Given the description of an element on the screen output the (x, y) to click on. 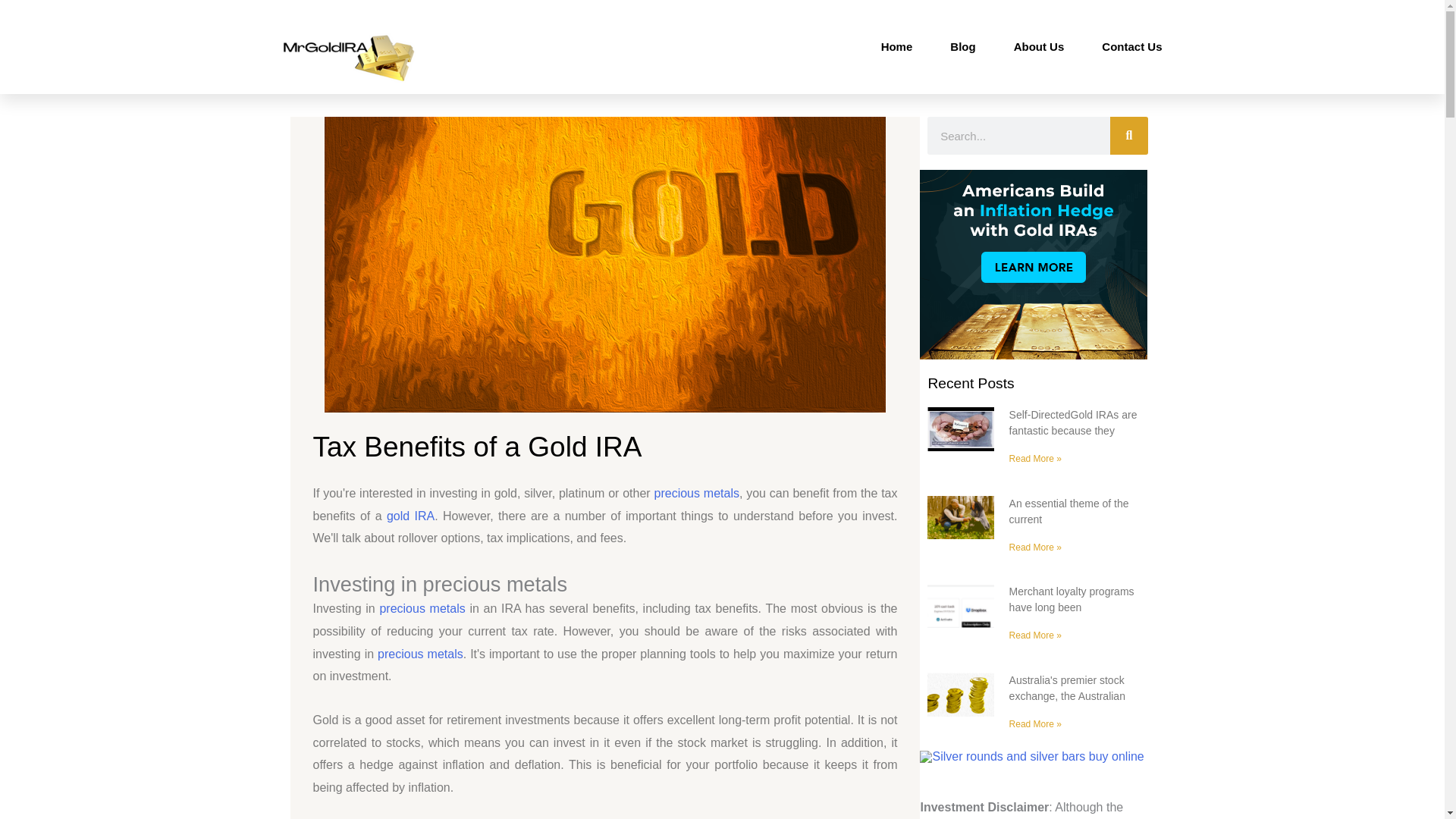
About Us (1038, 46)
Contact Us (1131, 46)
precious metals (420, 653)
precious metals (421, 608)
precious metals (696, 492)
gold IRA (410, 515)
